Given the description of an element on the screen output the (x, y) to click on. 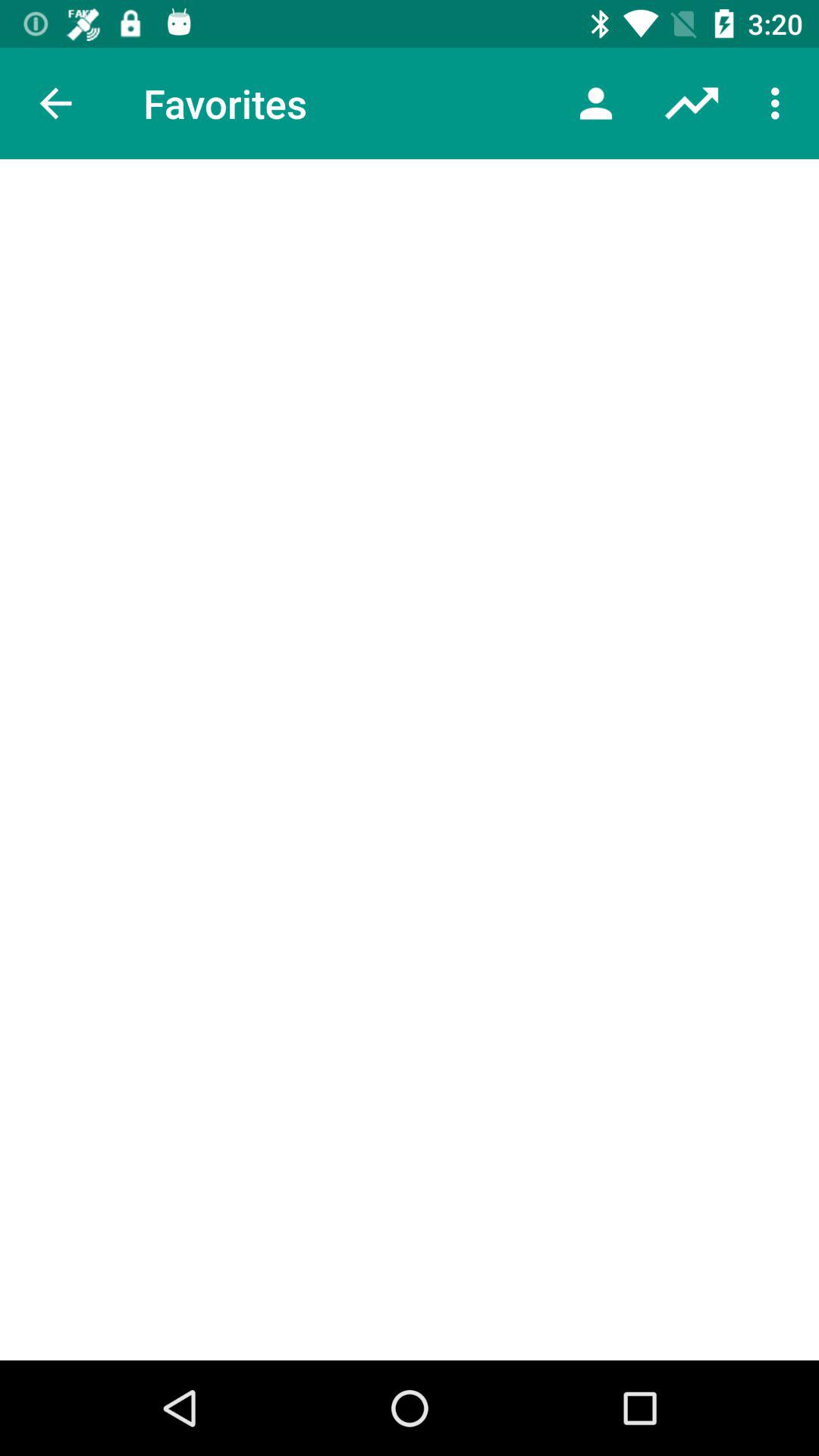
choose the icon at the center (409, 759)
